Given the description of an element on the screen output the (x, y) to click on. 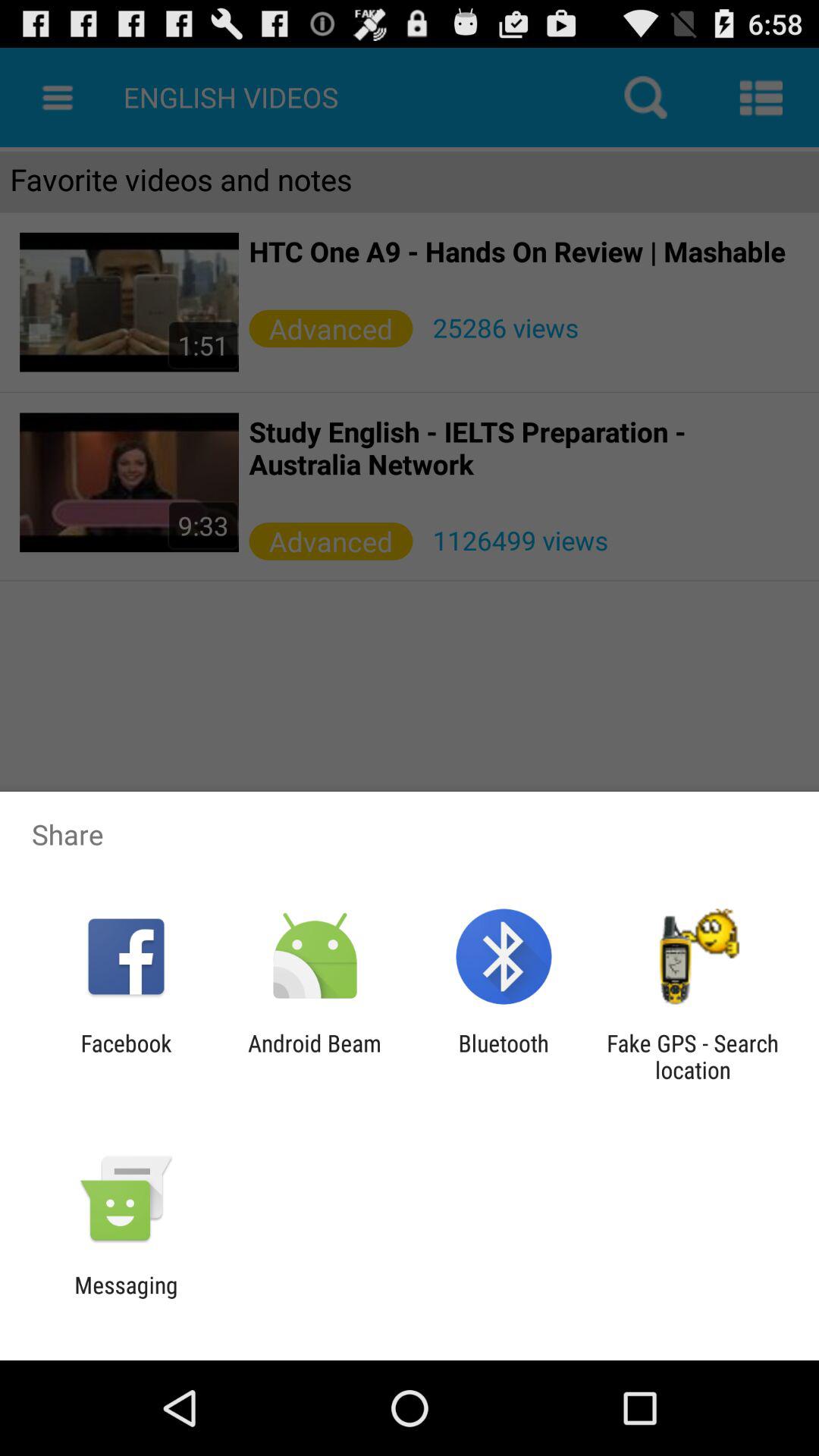
turn off app next to the fake gps search item (503, 1056)
